Given the description of an element on the screen output the (x, y) to click on. 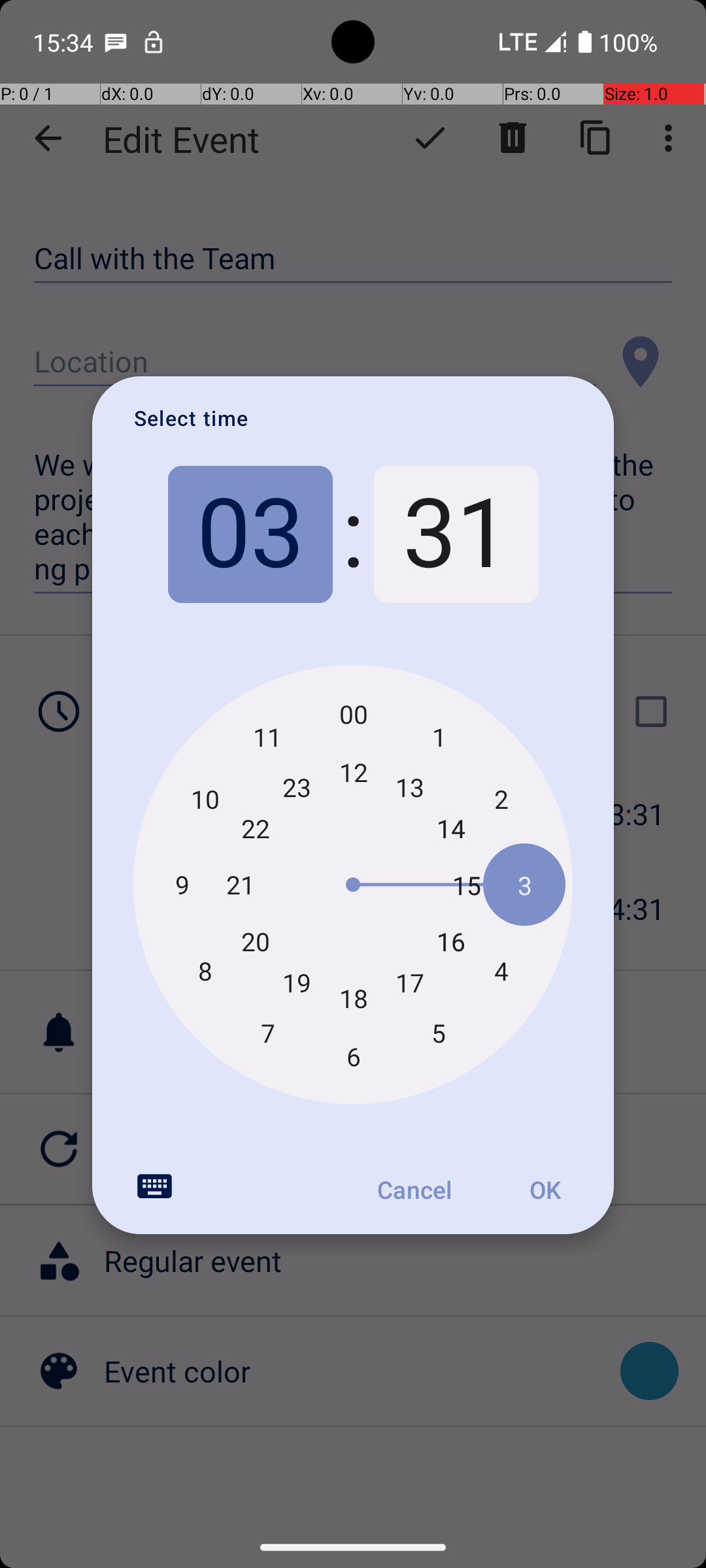
03 Element type: android.view.View (250, 534)
